Given the description of an element on the screen output the (x, y) to click on. 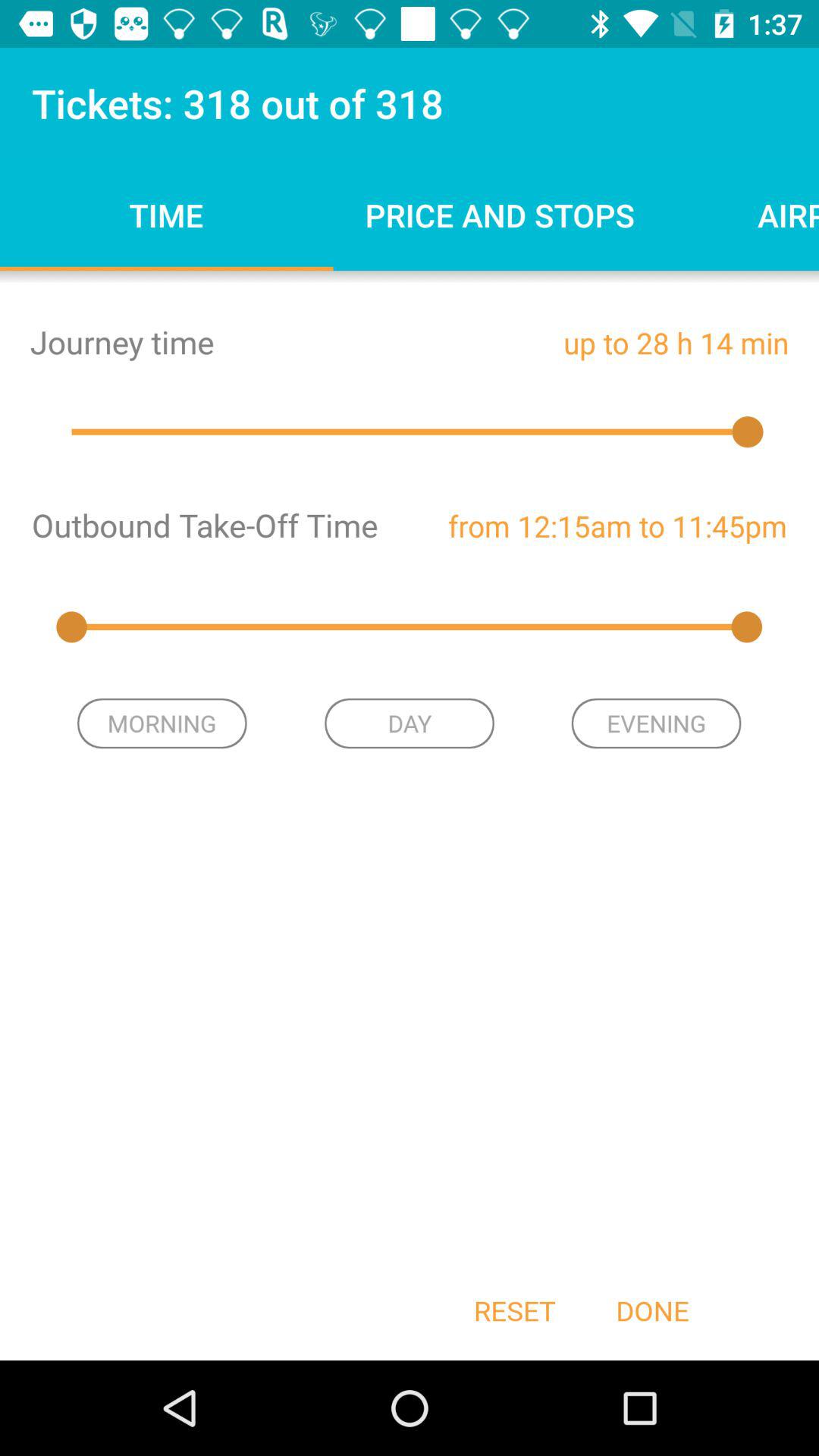
turn on item next to the day icon (656, 723)
